Given the description of an element on the screen output the (x, y) to click on. 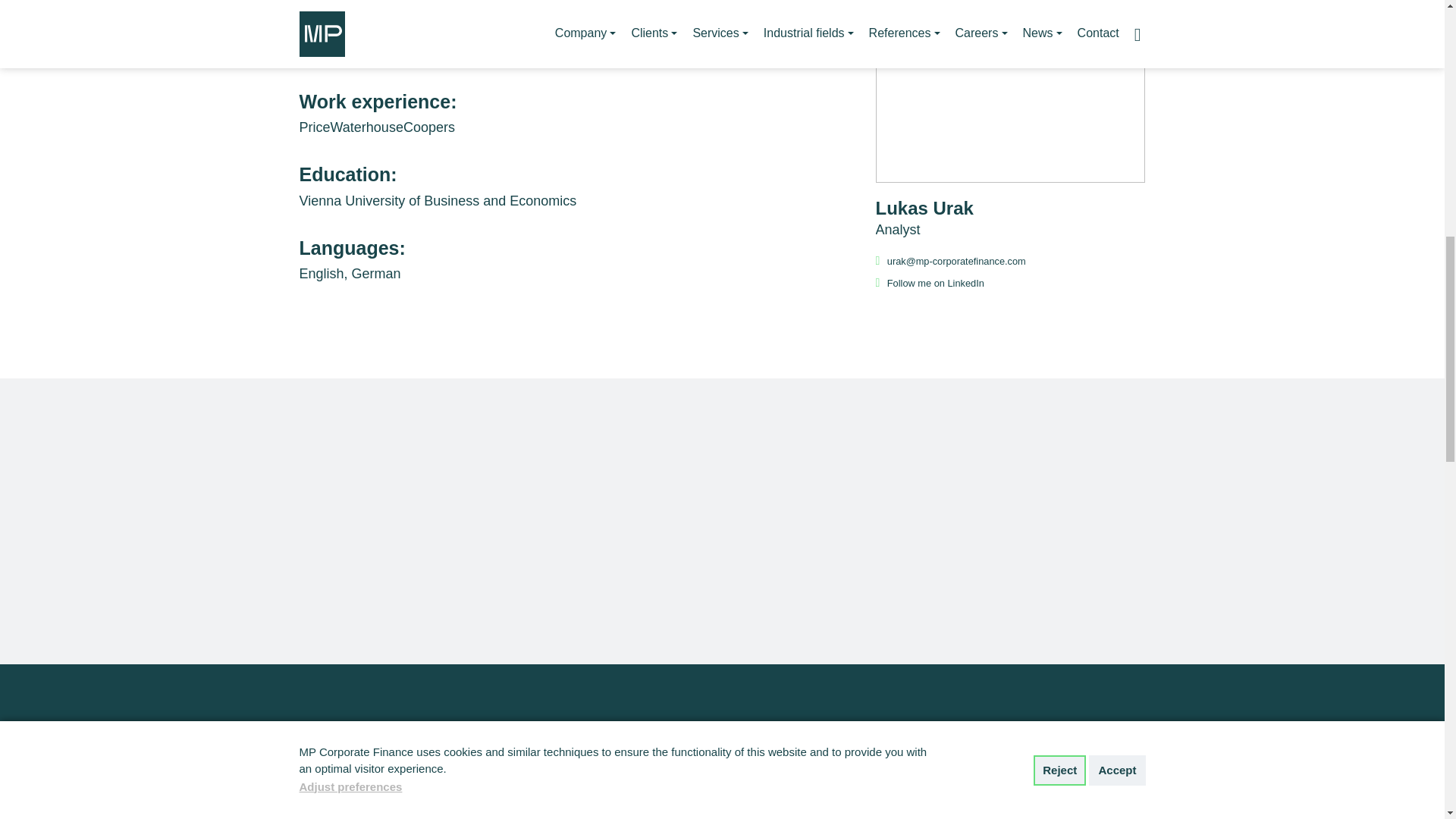
Mail Lukas Urak (952, 260)
See full profile of Lukas Urak (1009, 219)
see LinkedIn of Lukas Urak (931, 282)
